Given the description of an element on the screen output the (x, y) to click on. 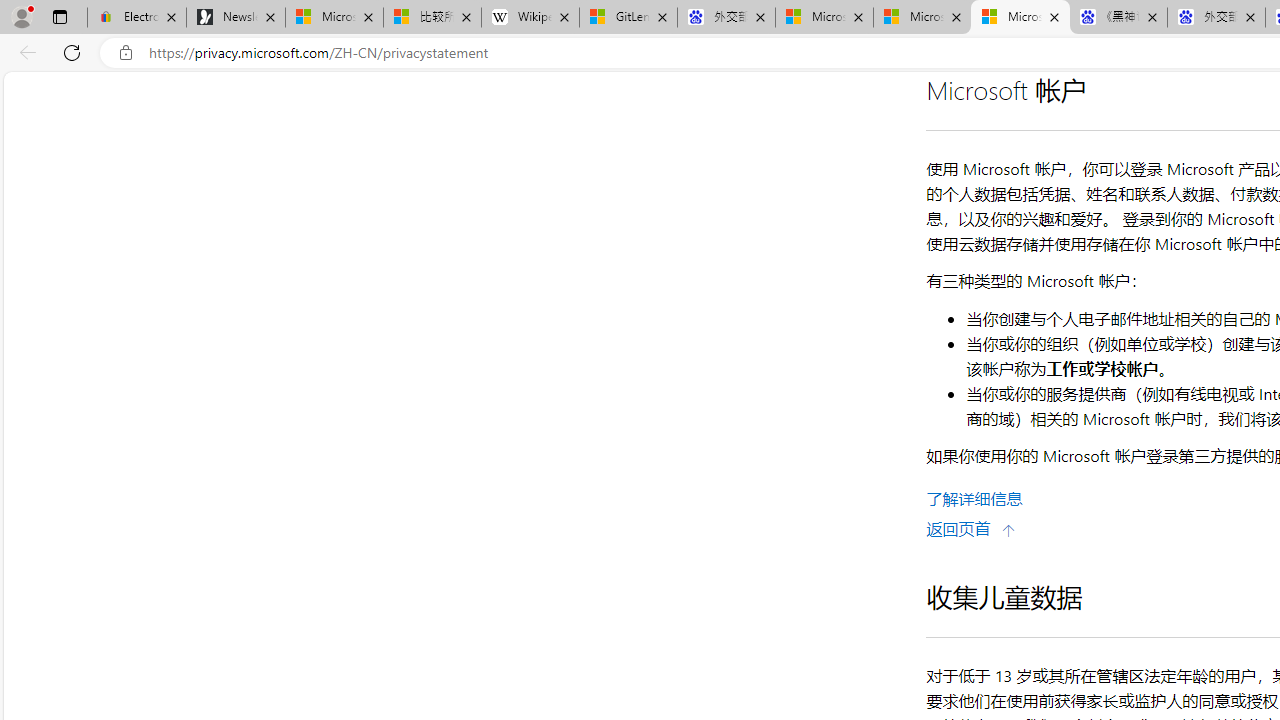
Wikipedia (530, 17)
Newsletter Sign Up (235, 17)
